Given the description of an element on the screen output the (x, y) to click on. 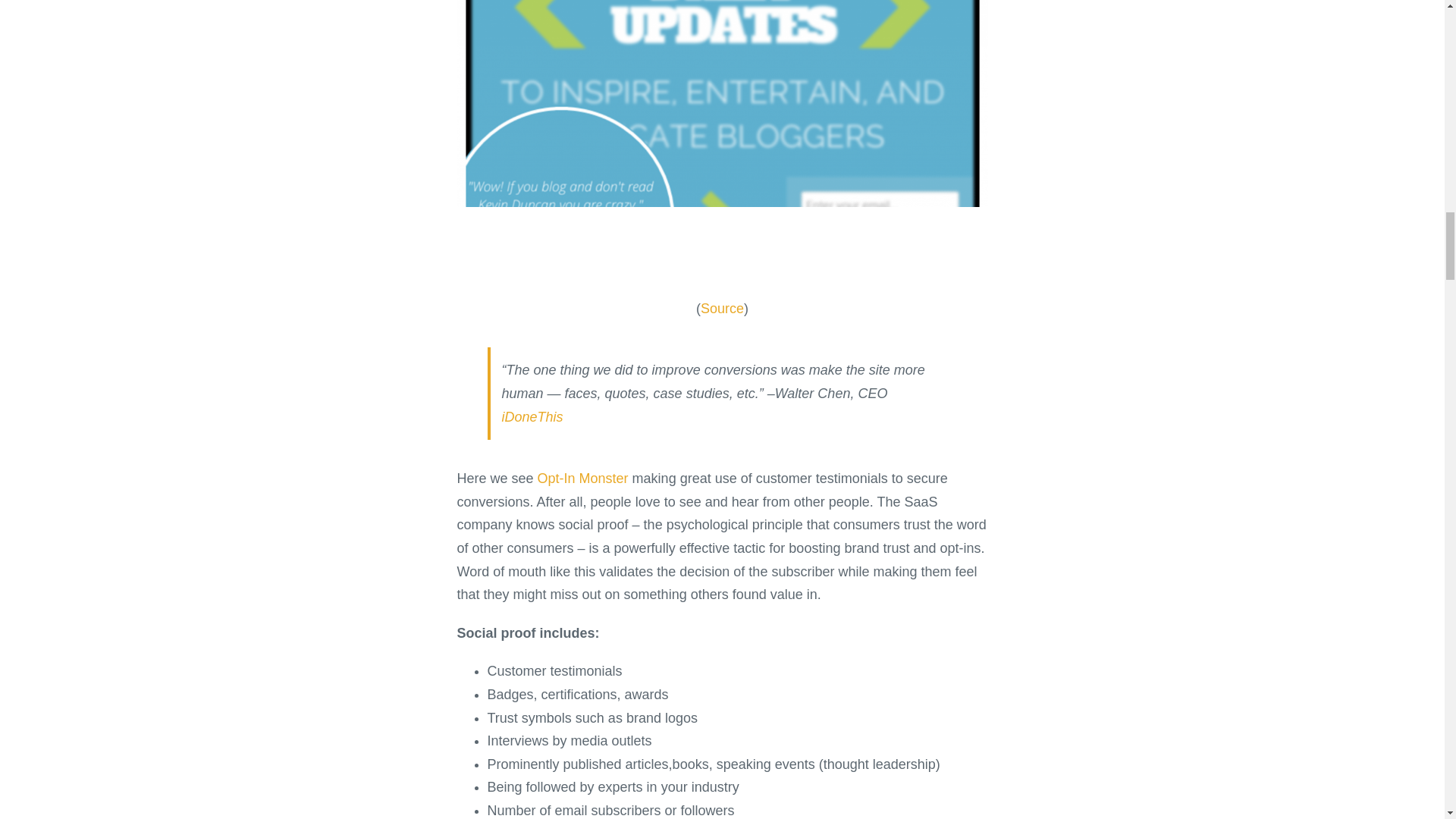
Opt-In Monster (582, 478)
iDoneThis (532, 417)
Source (722, 308)
